Given the description of an element on the screen output the (x, y) to click on. 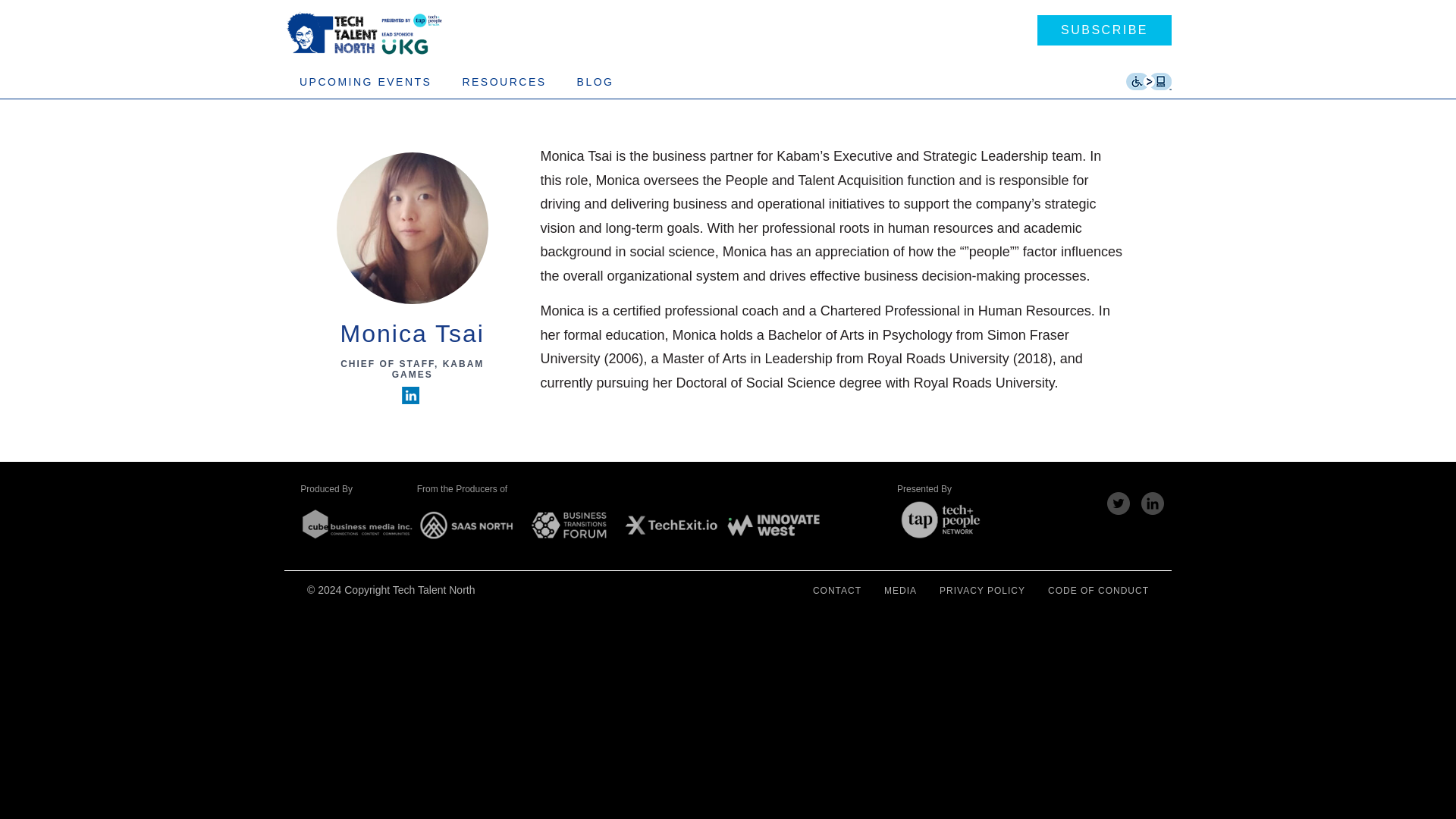
CONTACT (836, 590)
RESOURCES (503, 81)
BLOG (595, 81)
Monica Tsai (412, 333)
UPCOMING EVENTS (364, 81)
Monica	Tsai (412, 333)
PRIVACY POLICY (982, 590)
SUBSCRIBE (1104, 30)
MEDIA (900, 590)
CODE OF CONDUCT (1098, 590)
